Given the description of an element on the screen output the (x, y) to click on. 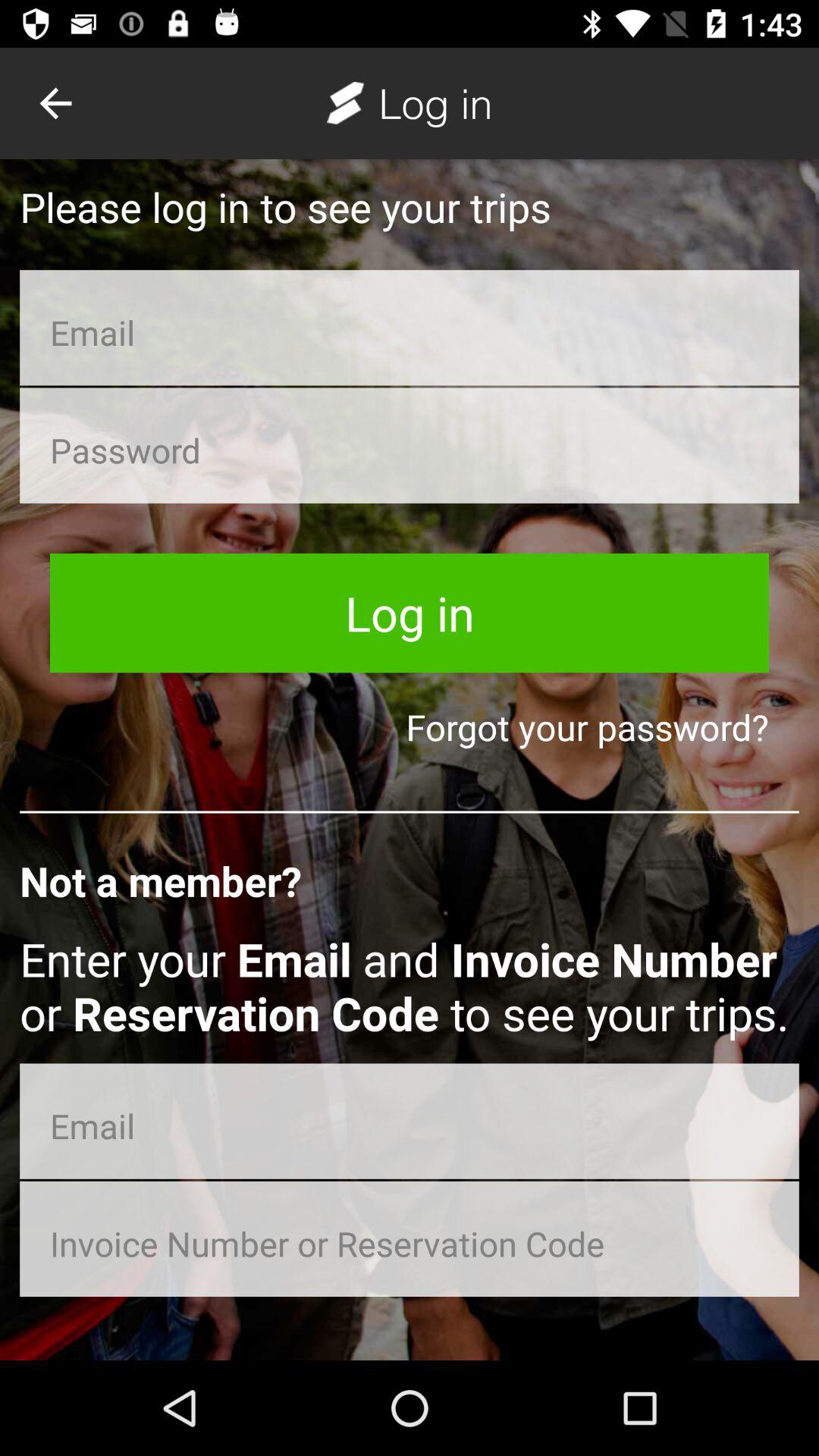
reservation/invoice input box (409, 1238)
